Given the description of an element on the screen output the (x, y) to click on. 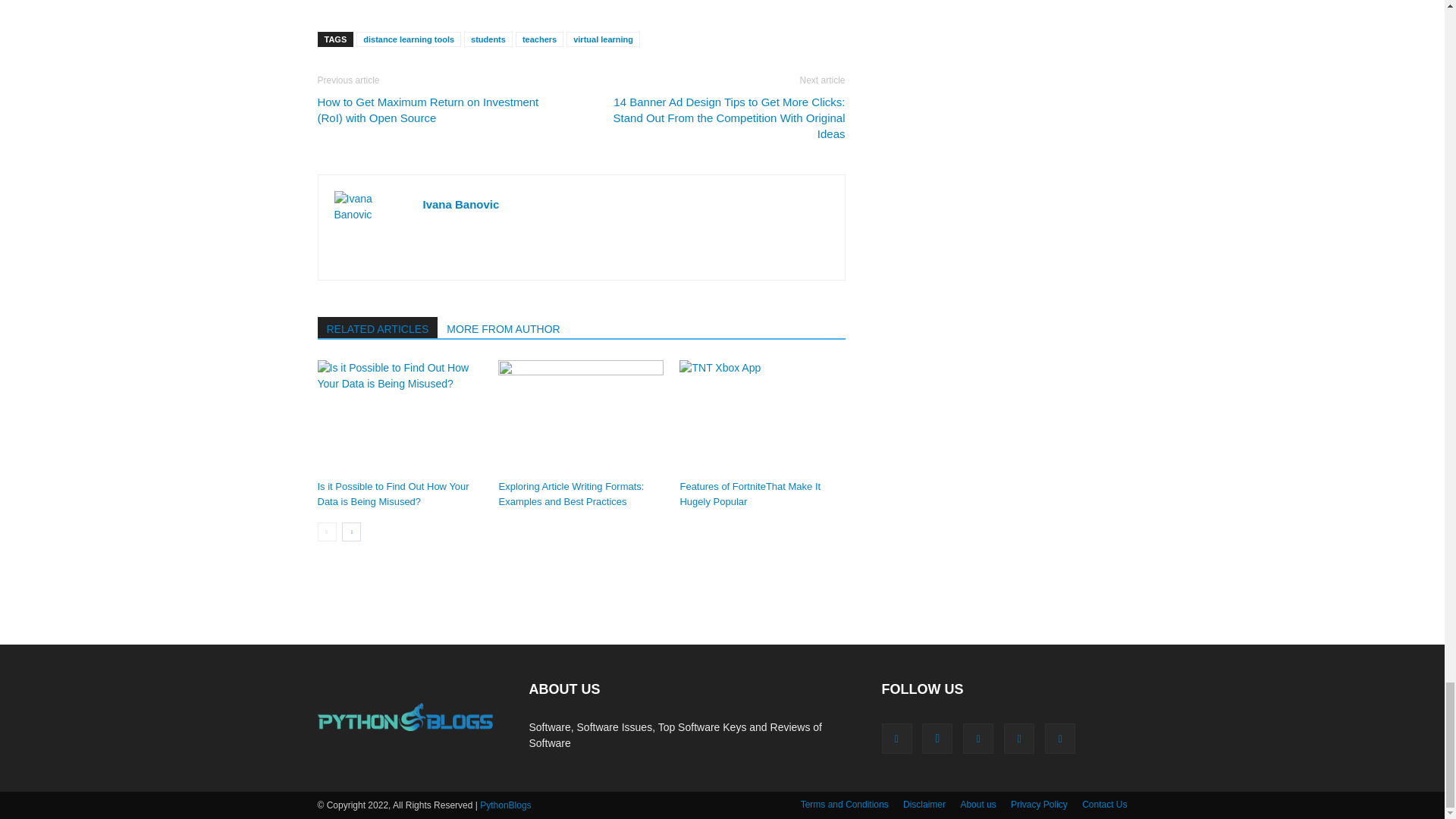
Is it Possible to Find Out How Your Data is Being Misused? (399, 417)
